Given the description of an element on the screen output the (x, y) to click on. 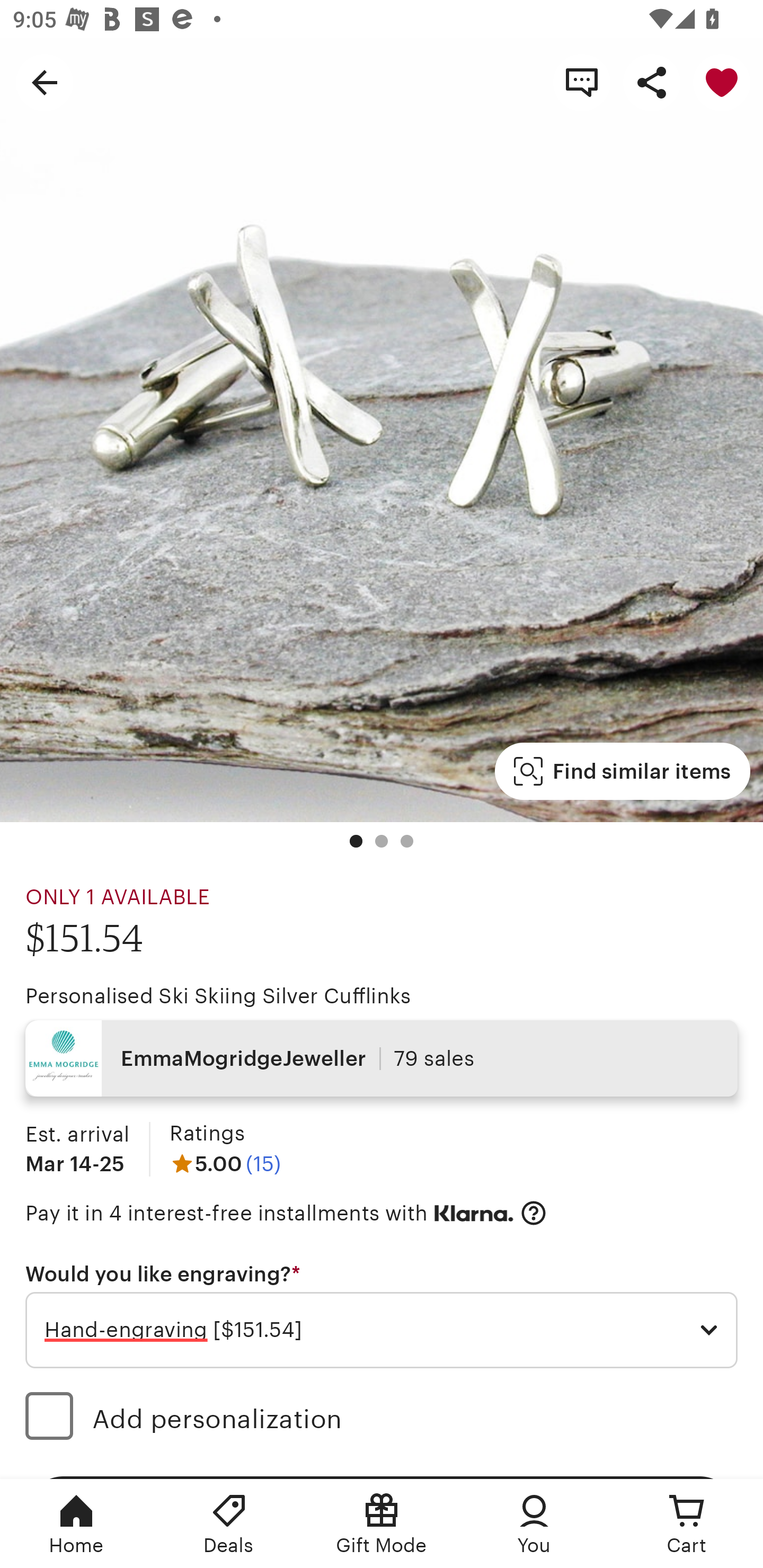
Navigate up (44, 81)
Contact shop (581, 81)
Share (651, 81)
Find similar items (622, 771)
Personalised Ski Skiing Silver Cufflinks (218, 996)
EmmaMogridgeJeweller 79 sales (381, 1058)
Ratings (206, 1133)
5.00 (15) (225, 1163)
Hand-engraving [$151.54] (381, 1330)
Add personalization (optional) Add personalization (381, 1418)
Deals (228, 1523)
Gift Mode (381, 1523)
You (533, 1523)
Cart (686, 1523)
